Given the description of an element on the screen output the (x, y) to click on. 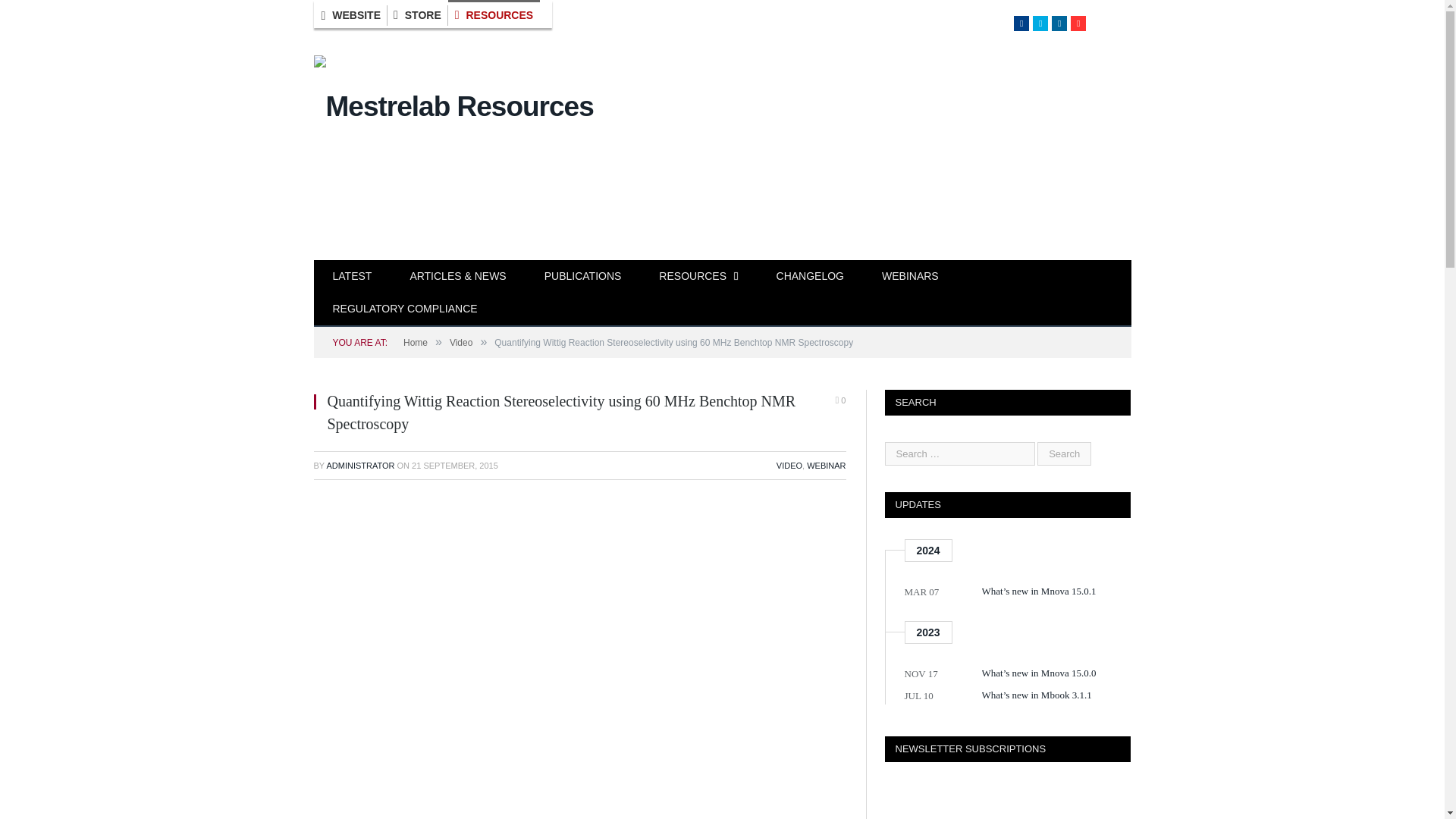
YouTube (1078, 23)
LinkedIn (1059, 23)
STORE (417, 15)
ADMINISTRATOR (360, 465)
2015-09-21 (454, 465)
CHANGELOG (810, 277)
Mestrelab Resources (454, 103)
LATEST (352, 277)
Contact Us (1110, 22)
WEBSITE (351, 15)
